Given the description of an element on the screen output the (x, y) to click on. 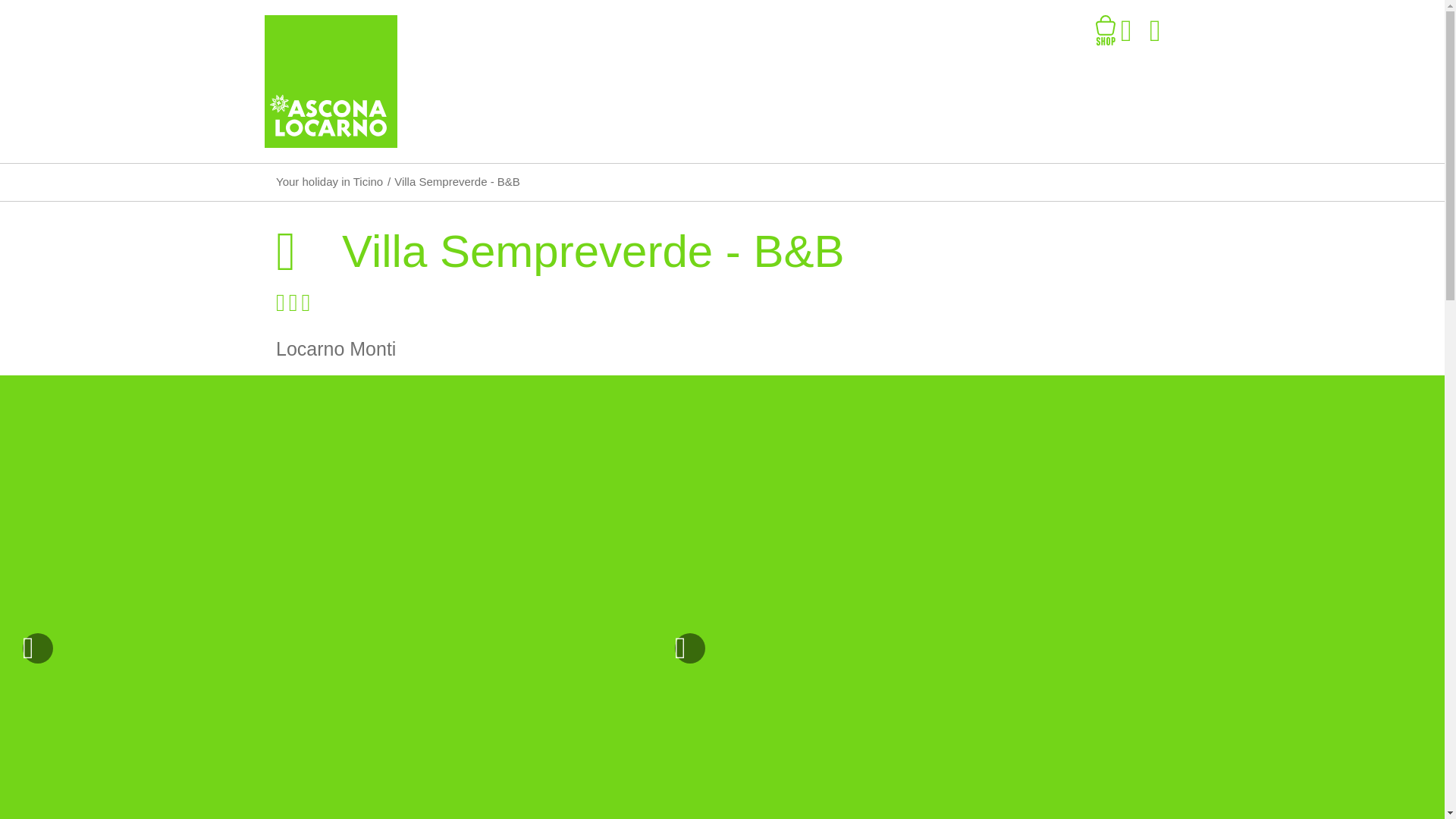
Home (330, 81)
Shop (1105, 30)
